Given the description of an element on the screen output the (x, y) to click on. 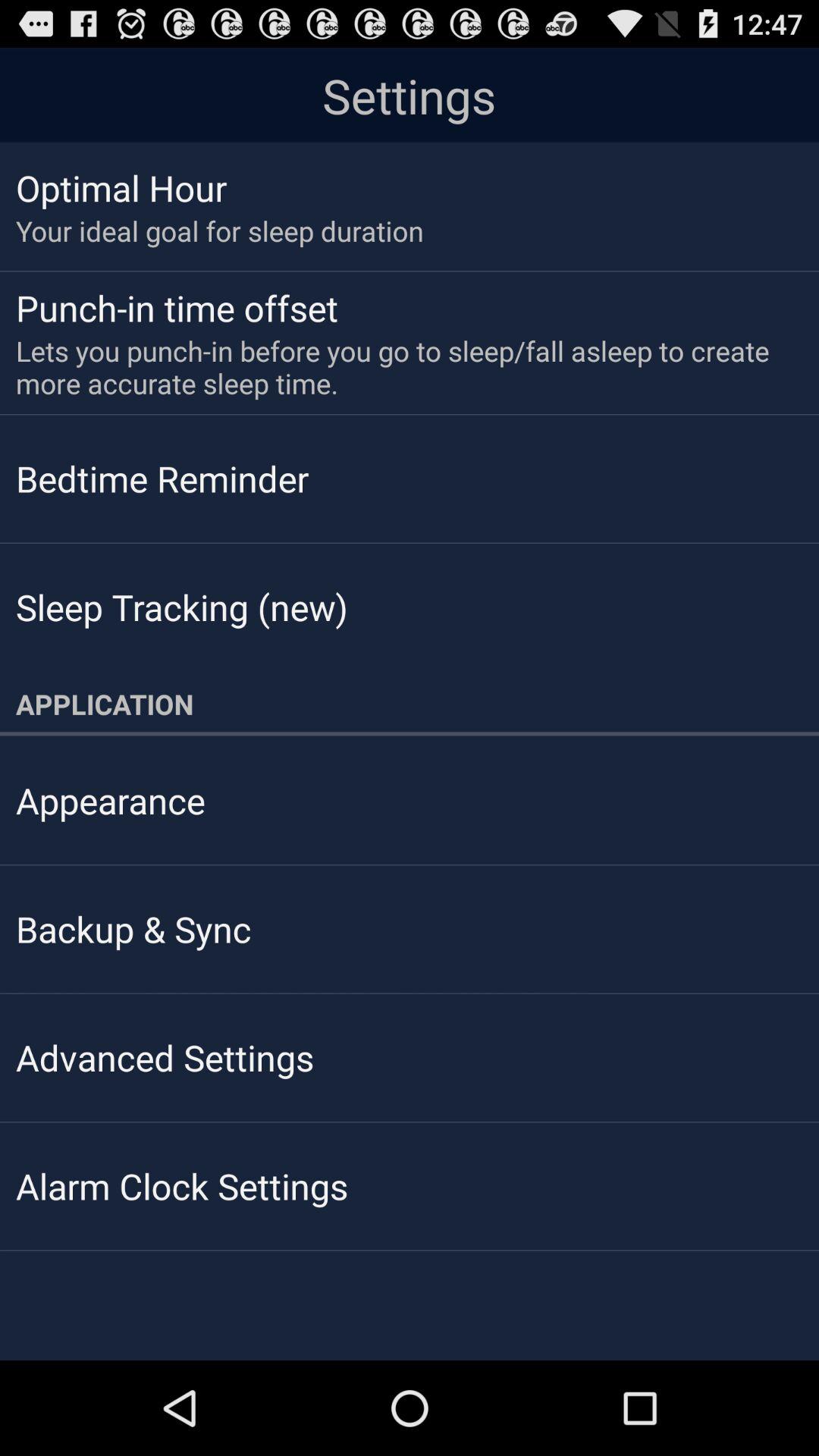
launch app above application icon (181, 606)
